Given the description of an element on the screen output the (x, y) to click on. 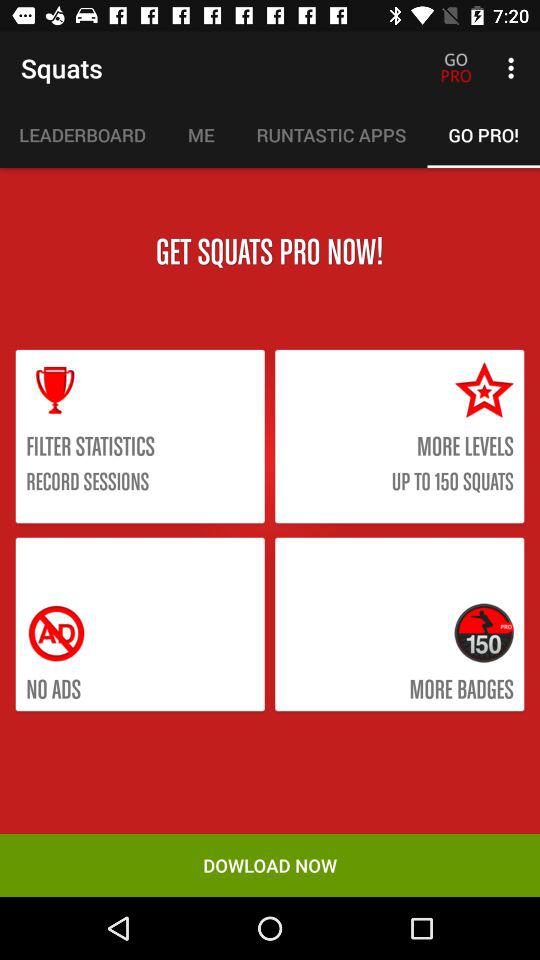
choose the icon next to the go pro! (331, 135)
